Given the description of an element on the screen output the (x, y) to click on. 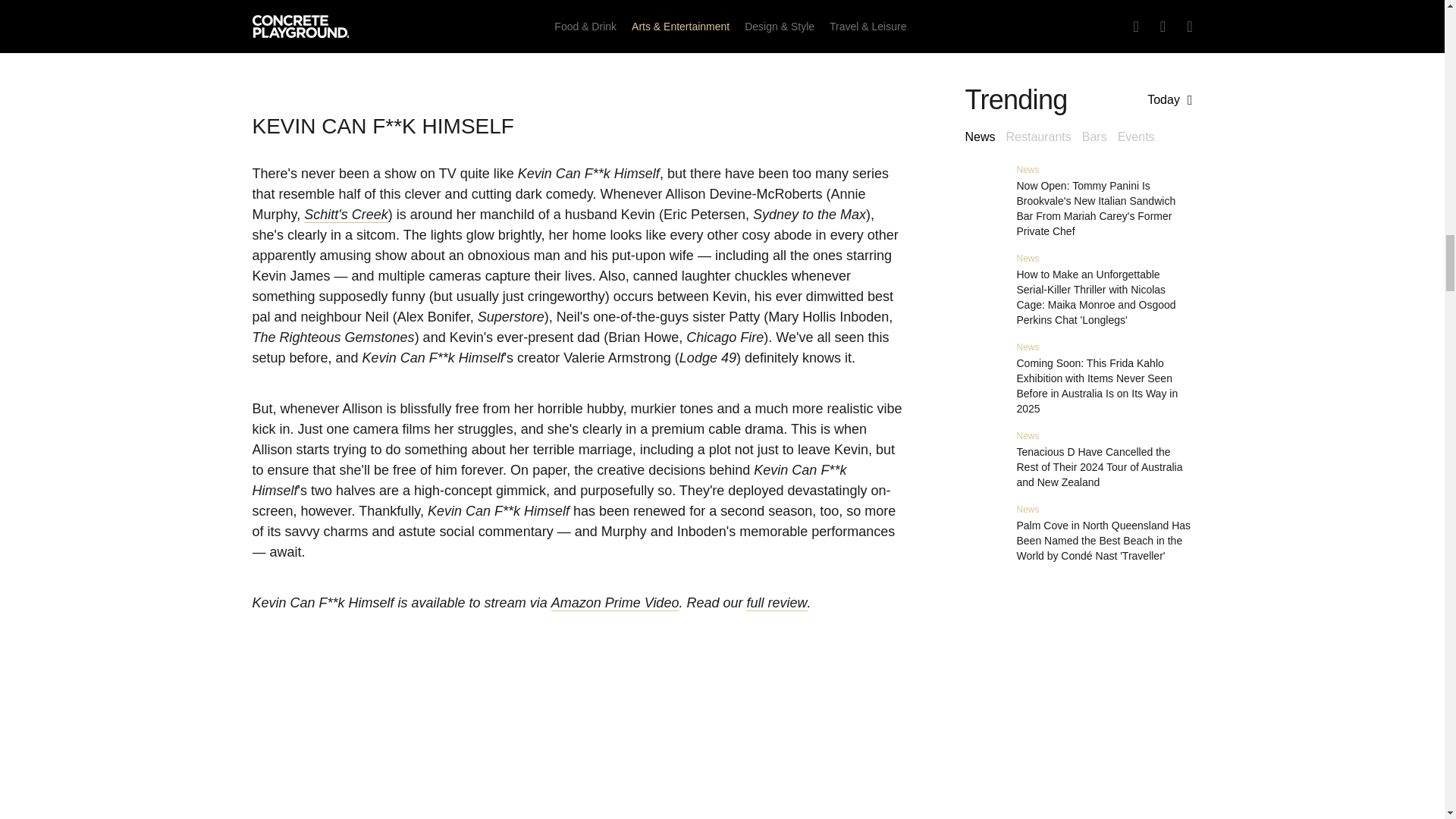
YouTube video player (577, 746)
YouTube video player (577, 37)
